Given the description of an element on the screen output the (x, y) to click on. 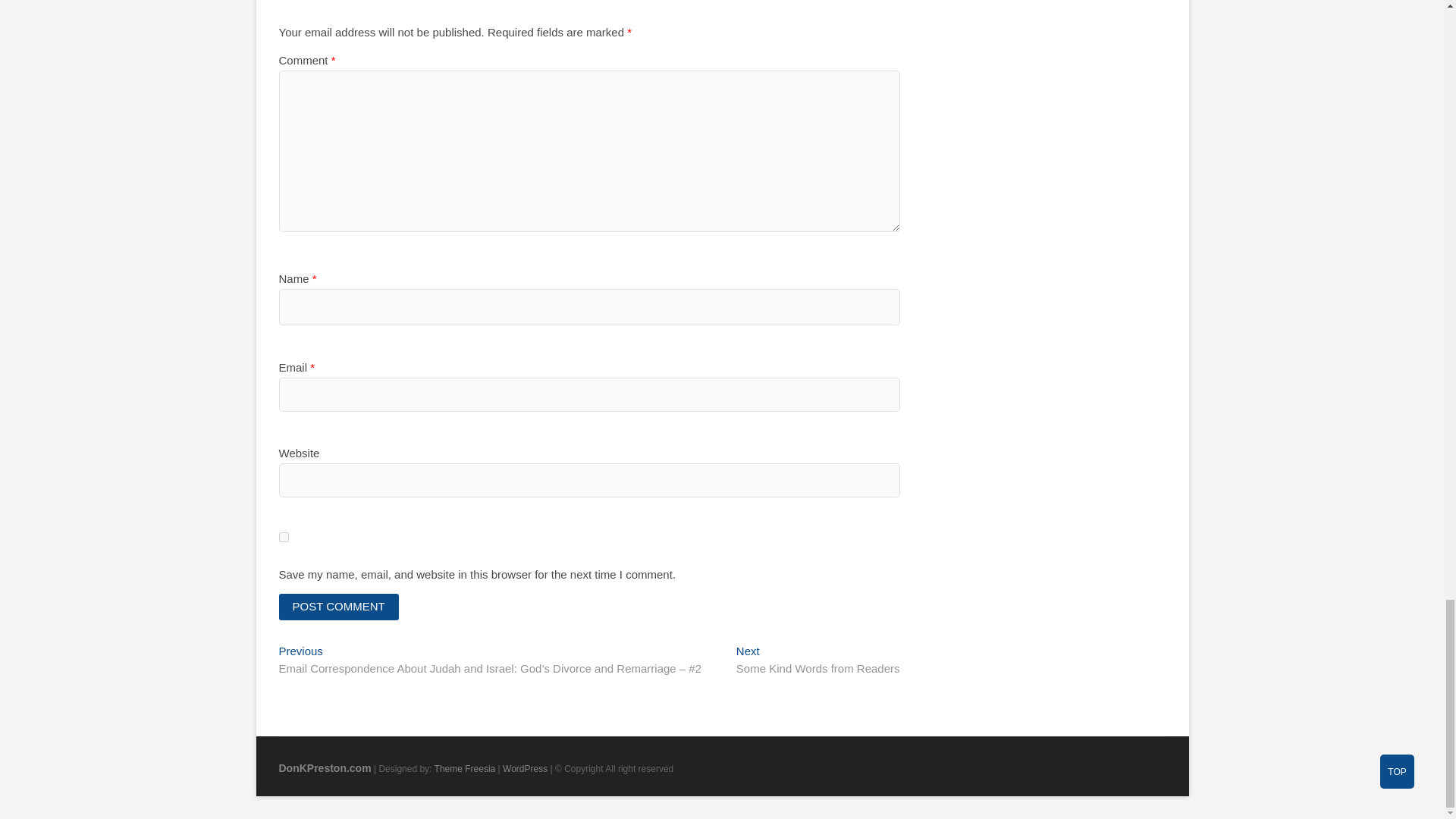
DonKPreston.com (325, 767)
yes (283, 537)
Theme Freesia (464, 768)
Post Comment (338, 606)
WordPress (524, 768)
